Given the description of an element on the screen output the (x, y) to click on. 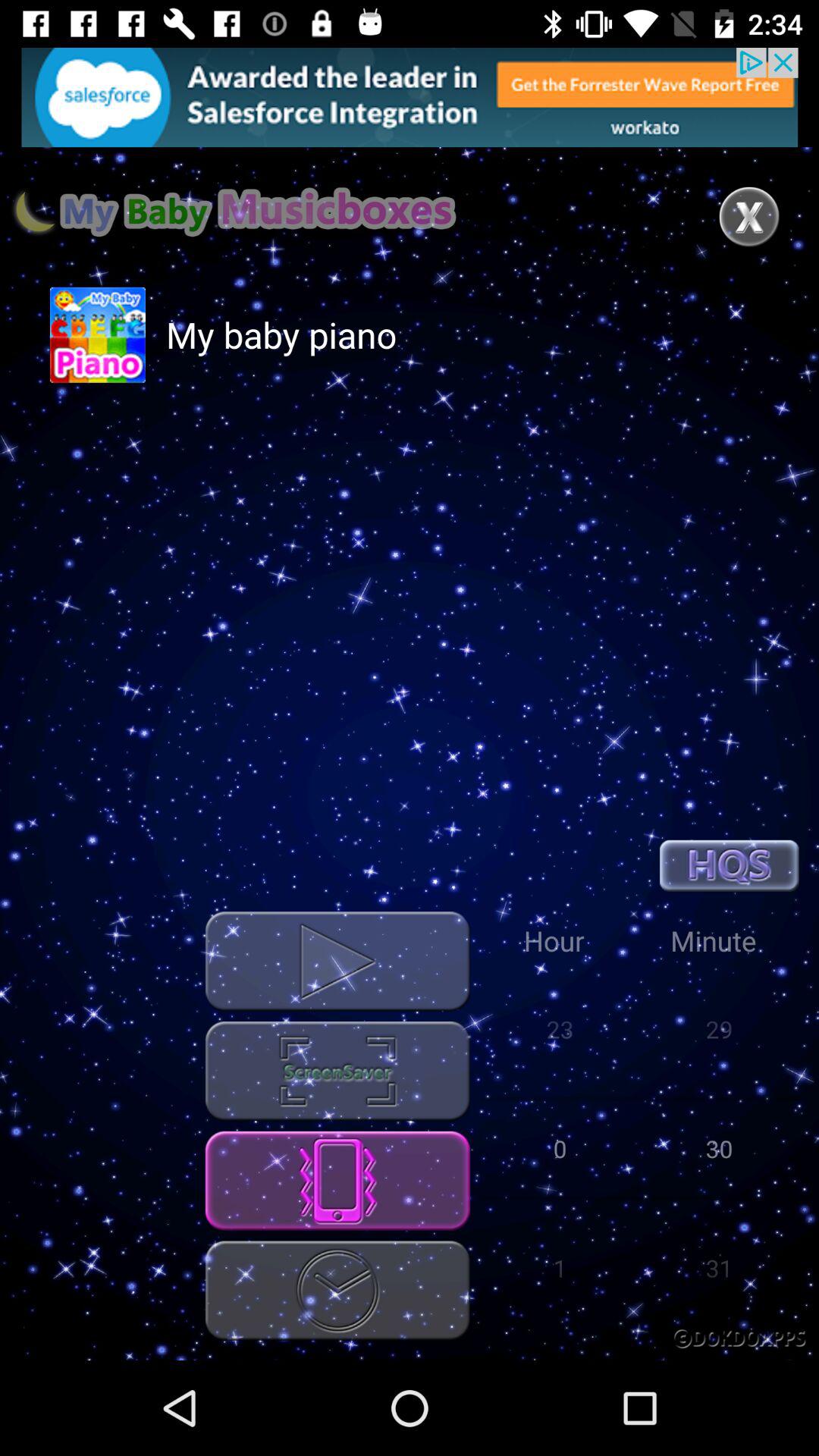
timer (337, 1290)
